Given the description of an element on the screen output the (x, y) to click on. 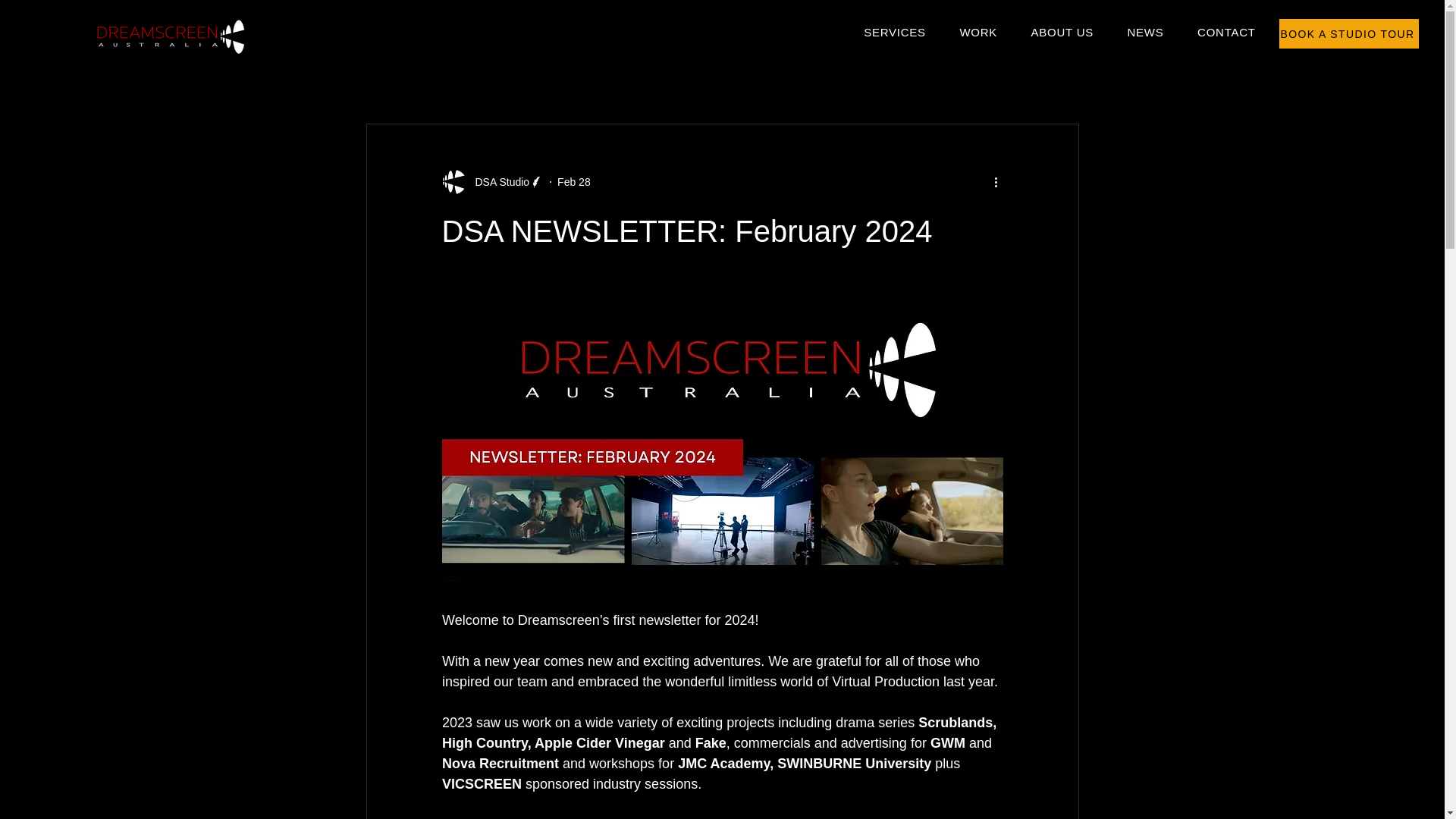
DSA Studio (497, 182)
NEWS (1145, 31)
CONTACT (1226, 31)
ABOUT US (1061, 31)
BOOK A STUDIO TOUR (1348, 33)
WORK (977, 31)
DSA Studio (492, 181)
DSA Logo RedWhite.png (170, 36)
Feb 28 (574, 182)
SERVICES (894, 31)
